Given the description of an element on the screen output the (x, y) to click on. 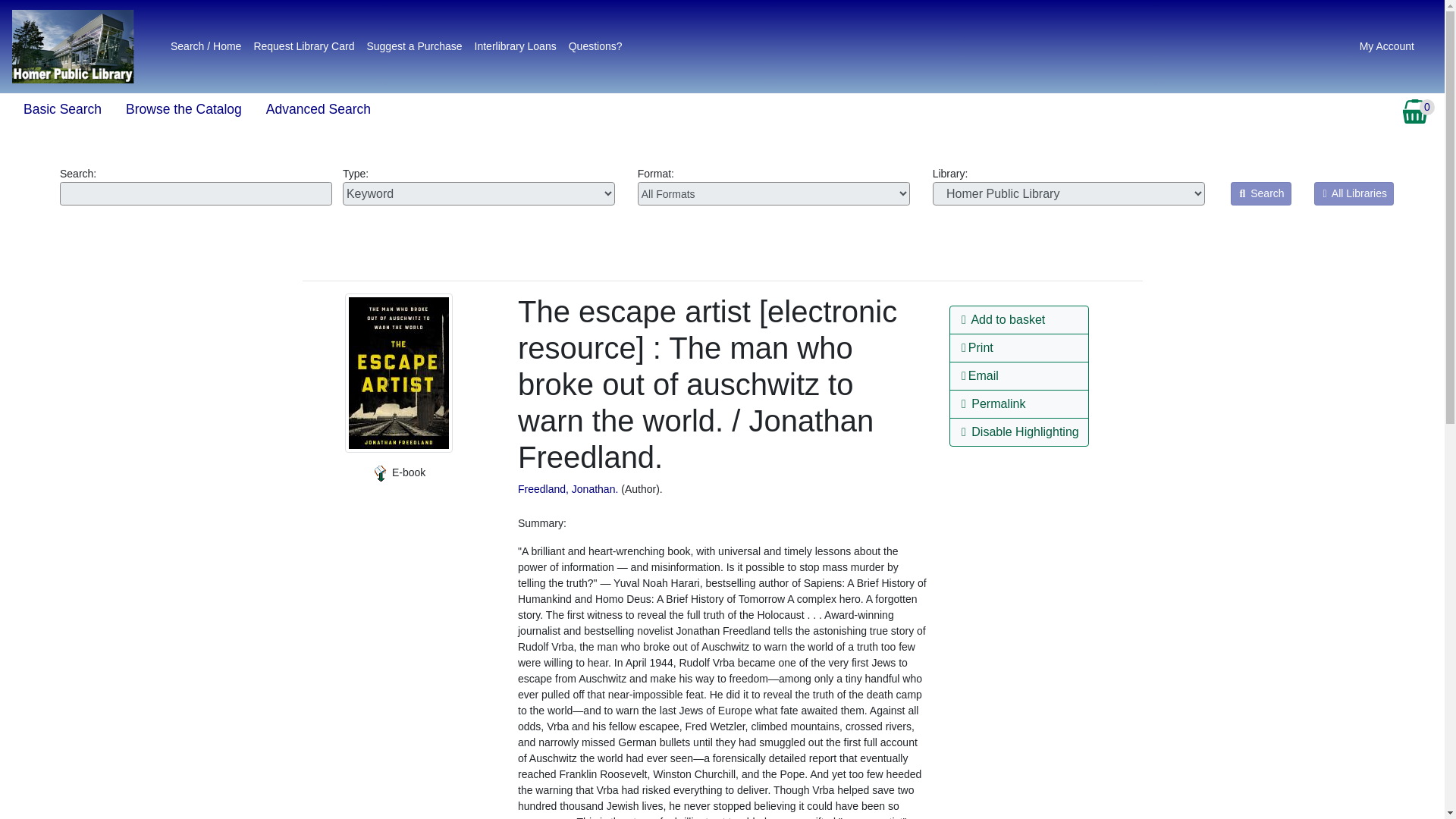
Request Library Card (303, 46)
Select item type: (773, 193)
All Libraries (1353, 193)
Add to basket (1019, 319)
Print (1019, 347)
Questions? (595, 46)
Select search library (1069, 193)
Search (1260, 193)
Email (1019, 375)
Permalink (1019, 403)
Advanced Search (317, 109)
Basic Search (62, 109)
Browse the Catalog (183, 109)
